Given the description of an element on the screen output the (x, y) to click on. 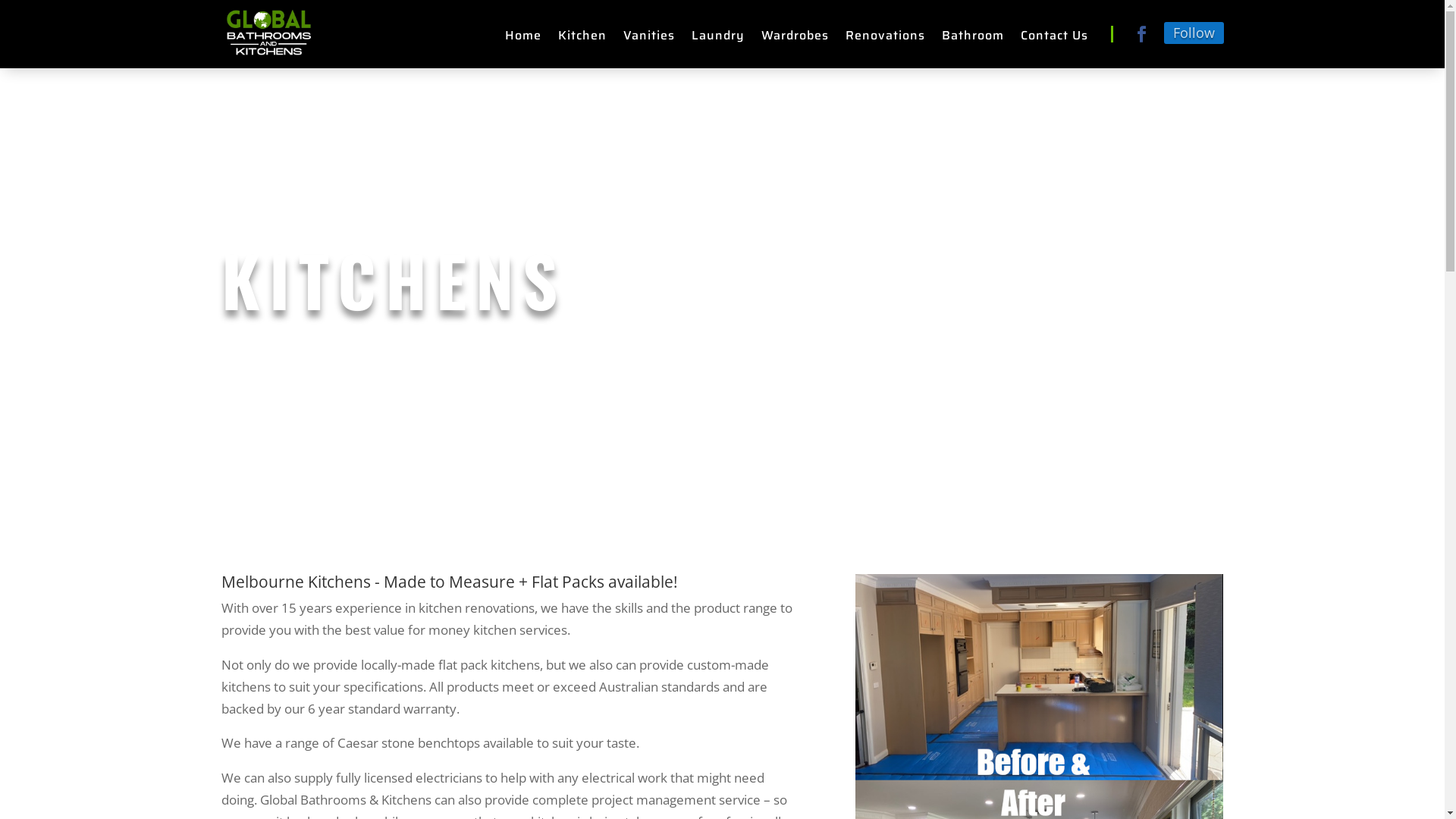
Follow Element type: text (1193, 32)
logo-transparent Element type: hover (267, 33)
Laundry Element type: text (717, 38)
Wardrobes Element type: text (794, 38)
Home Element type: text (523, 38)
Contact Us Element type: text (1054, 38)
Follow on Facebook Element type: hover (1141, 34)
Bathroom Element type: text (972, 38)
Renovations Element type: text (884, 38)
Vanities Element type: text (648, 38)
Kitchen Element type: text (582, 38)
